Given the description of an element on the screen output the (x, y) to click on. 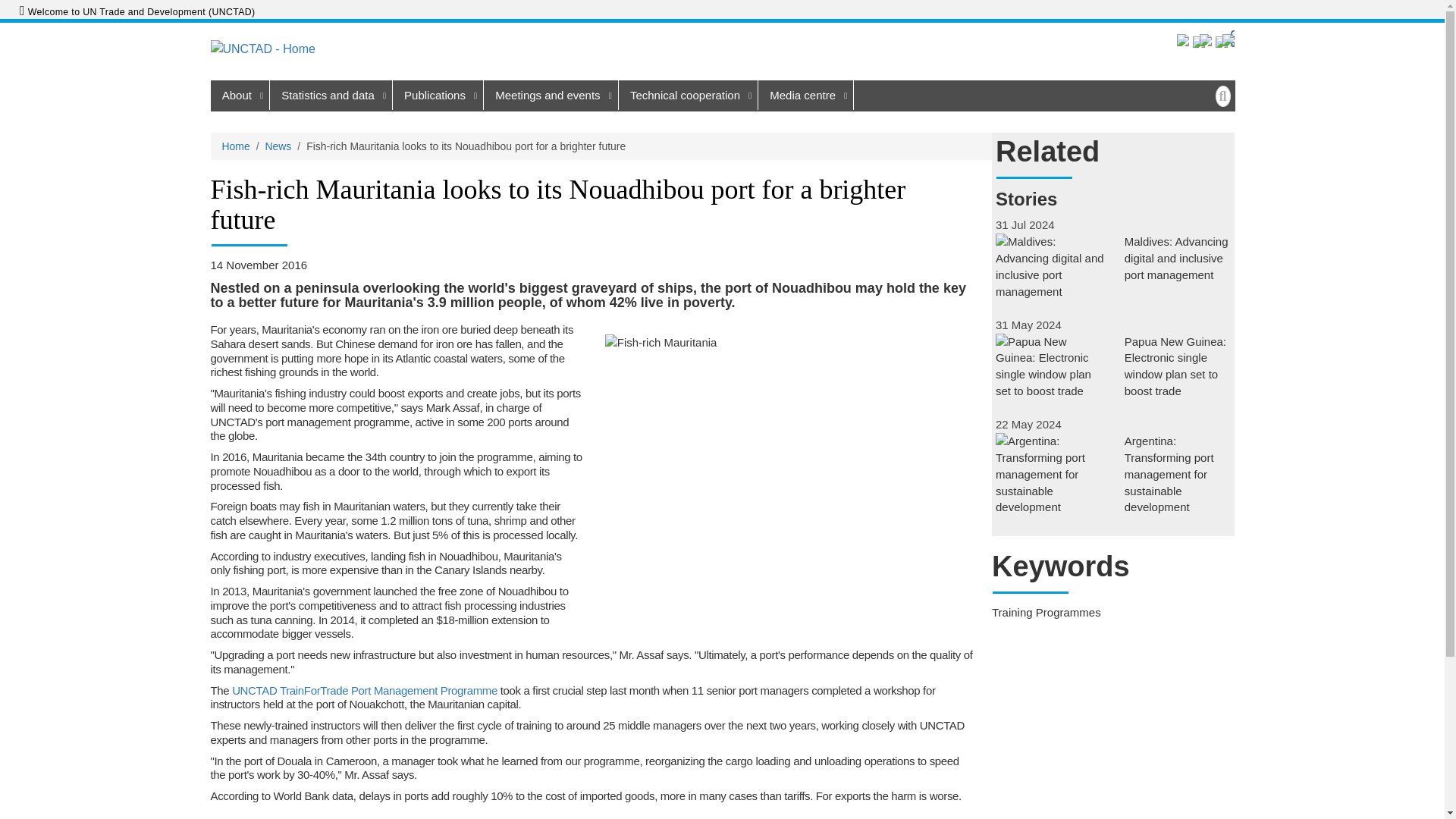
Statistics and data (331, 94)
Home (286, 48)
UNCTAD TrainForTrade Port Management Programme (364, 689)
About (240, 94)
Maldives: Advancing digital and inclusive port management (1113, 258)
